Given the description of an element on the screen output the (x, y) to click on. 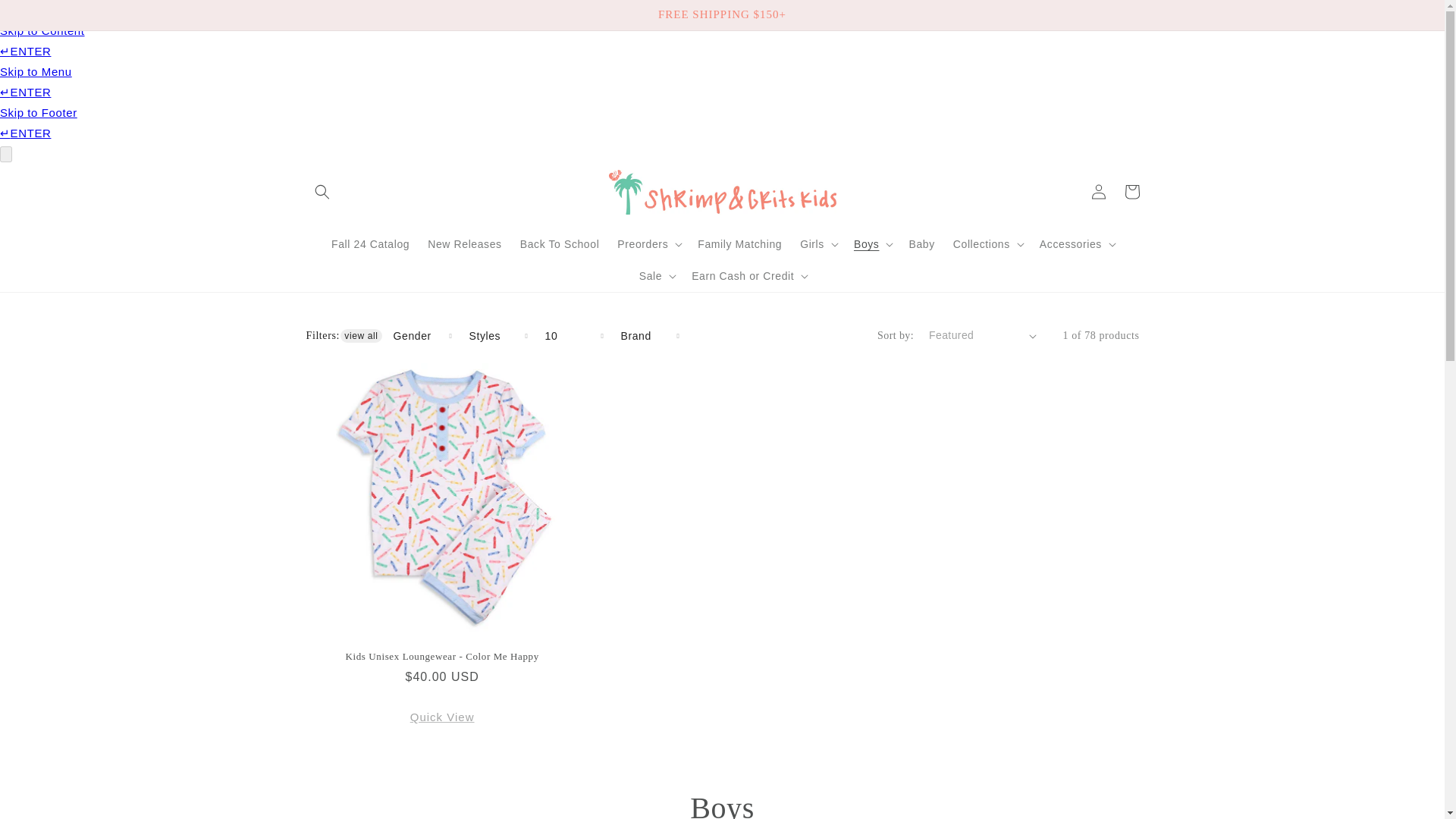
Skip to content (45, 17)
